Given the description of an element on the screen output the (x, y) to click on. 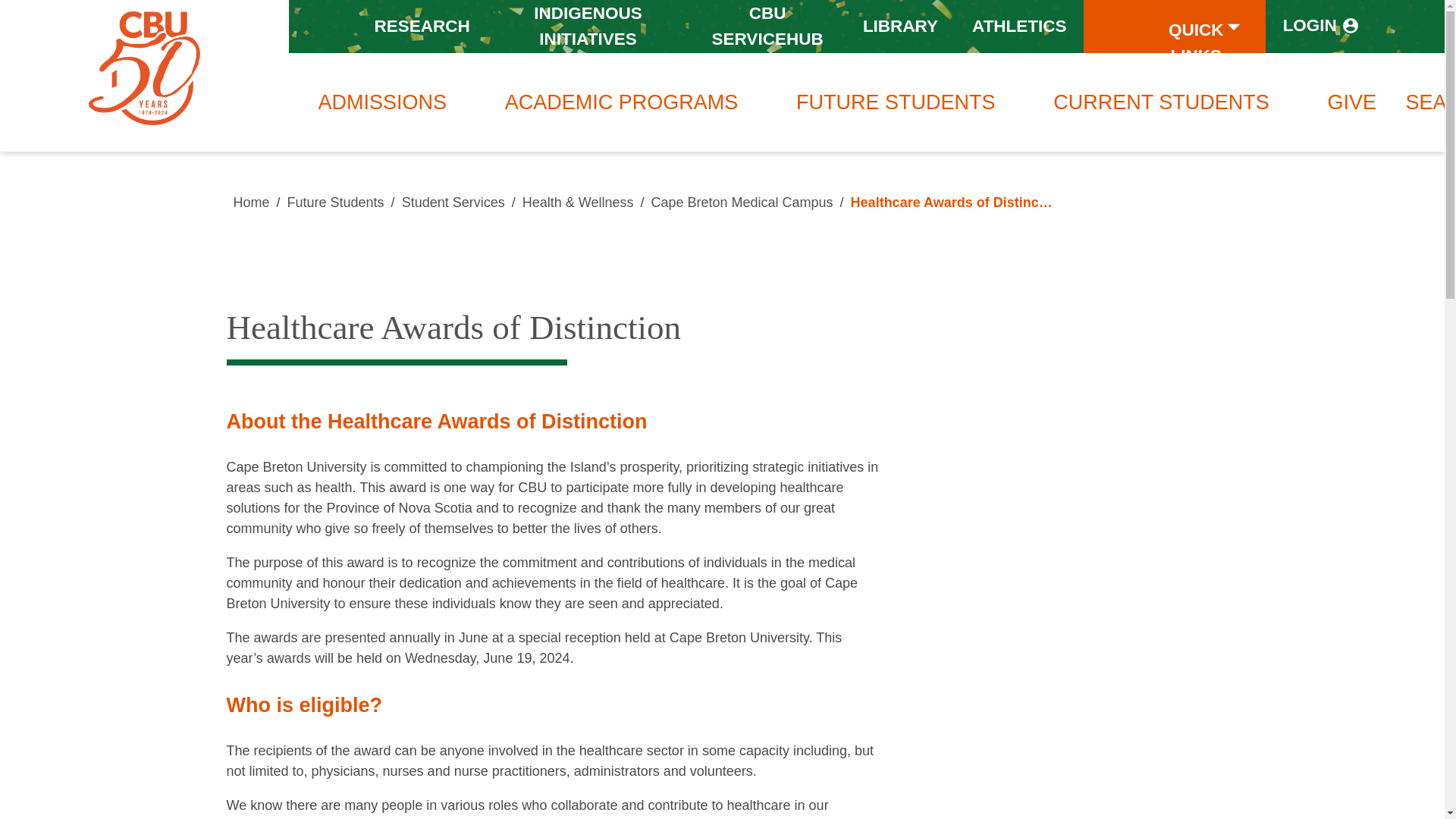
ADMISSIONS (381, 101)
LOGIN (1320, 25)
INDIGENOUS INITIATIVES (587, 26)
RESEARCH (422, 26)
LIBRARY (900, 26)
CBU SERVICEHUB (767, 26)
FUTURE STUDENTS (895, 101)
ACADEMIC PROGRAMS (621, 101)
ATHLETICS (1019, 26)
